Given the description of an element on the screen output the (x, y) to click on. 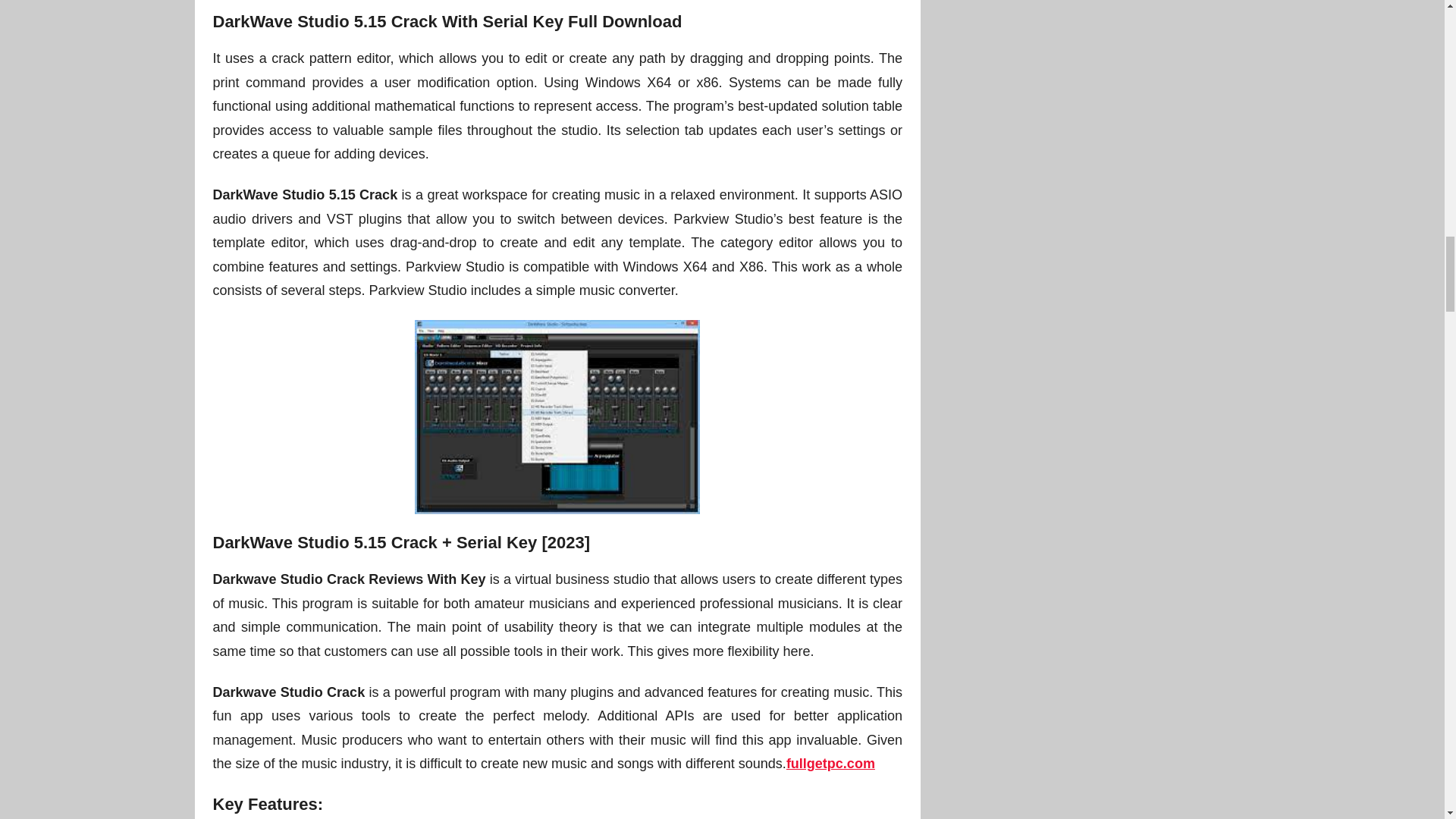
fullgetpc.com (830, 763)
